Given the description of an element on the screen output the (x, y) to click on. 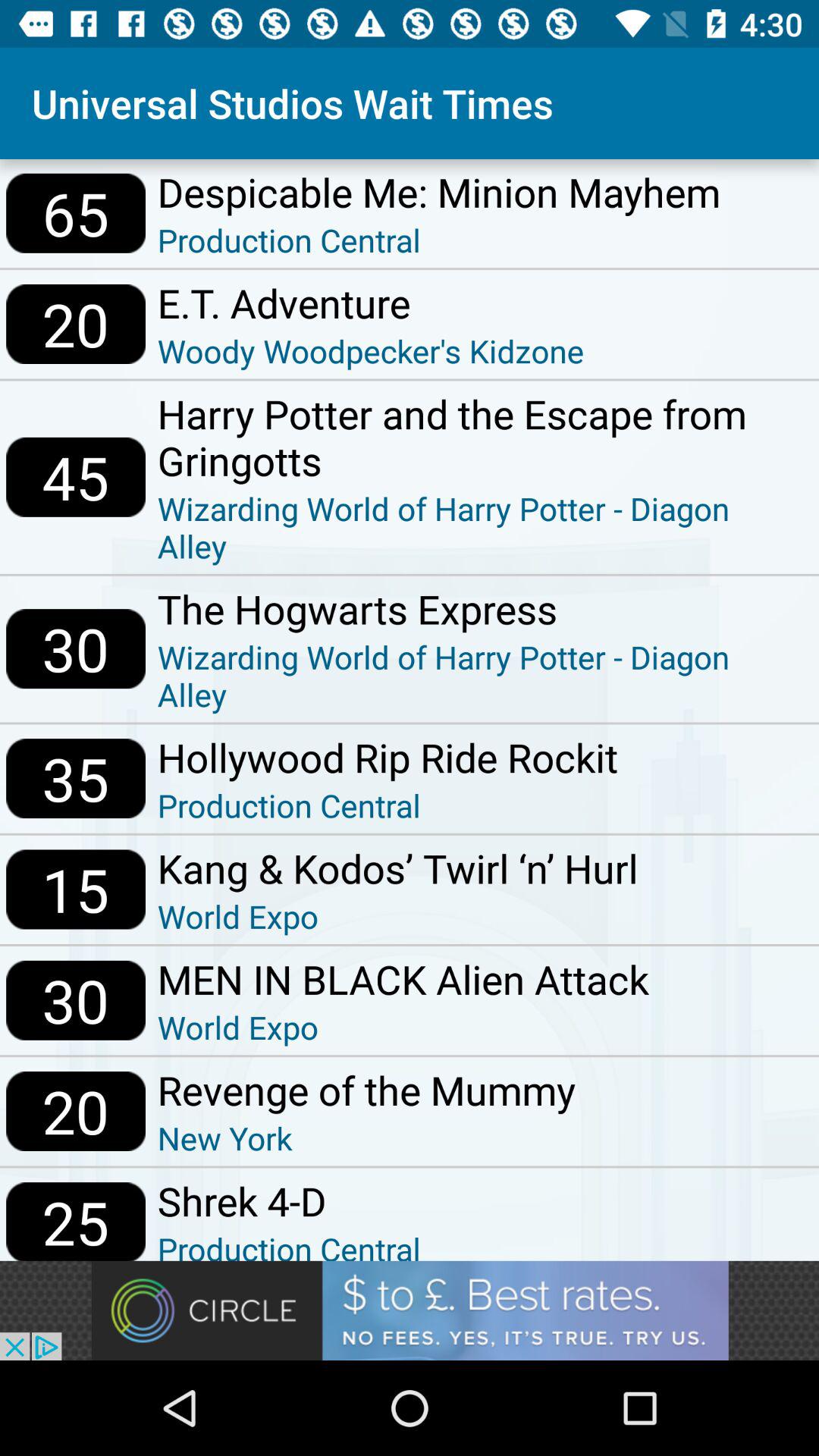
select icon to the left of the hollywood rip ride (75, 778)
